Given the description of an element on the screen output the (x, y) to click on. 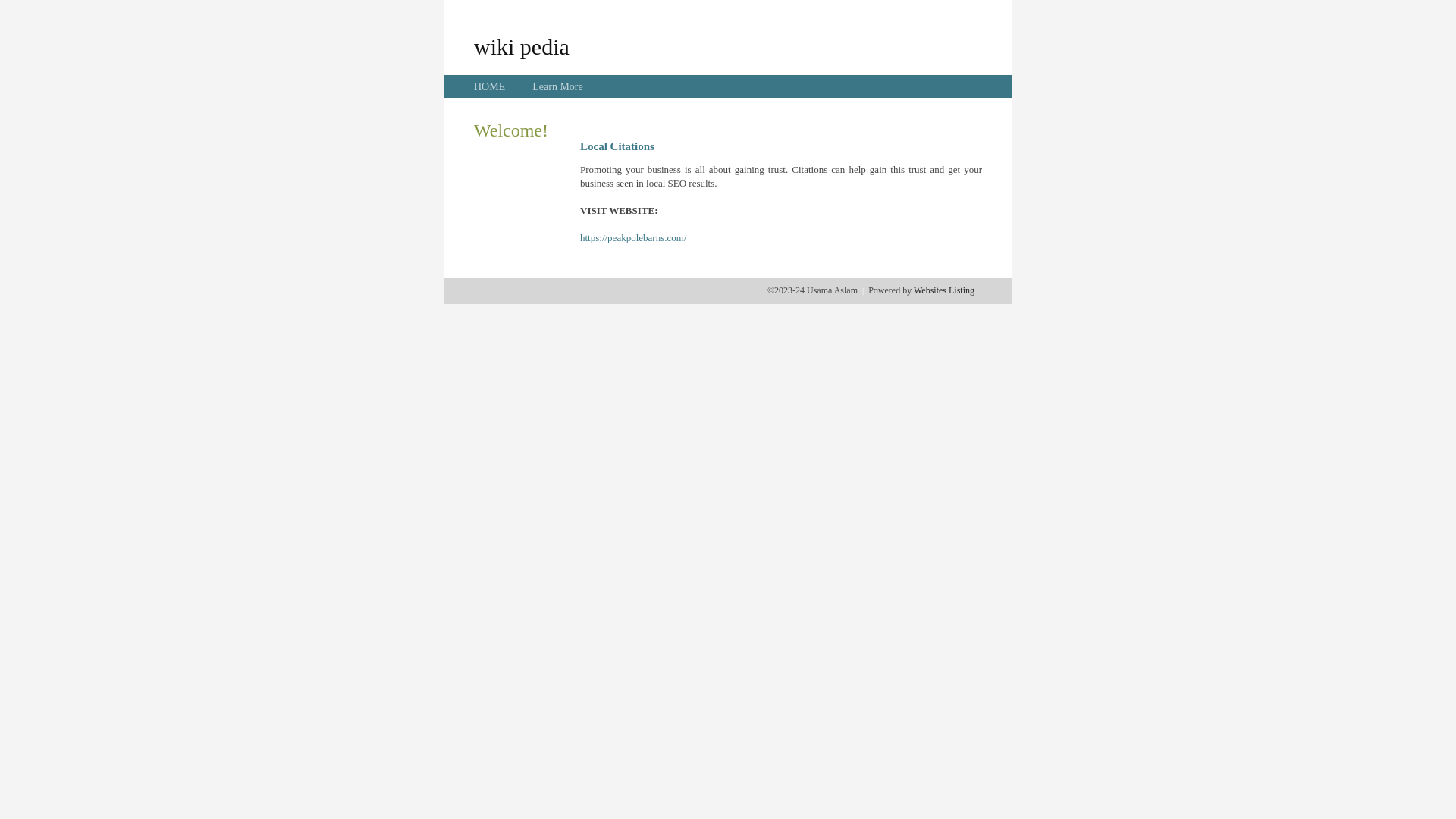
wiki pedia Element type: text (521, 46)
https://peakpolebarns.com/ Element type: text (633, 237)
Websites Listing Element type: text (943, 290)
Learn More Element type: text (557, 86)
HOME Element type: text (489, 86)
